Given the description of an element on the screen output the (x, y) to click on. 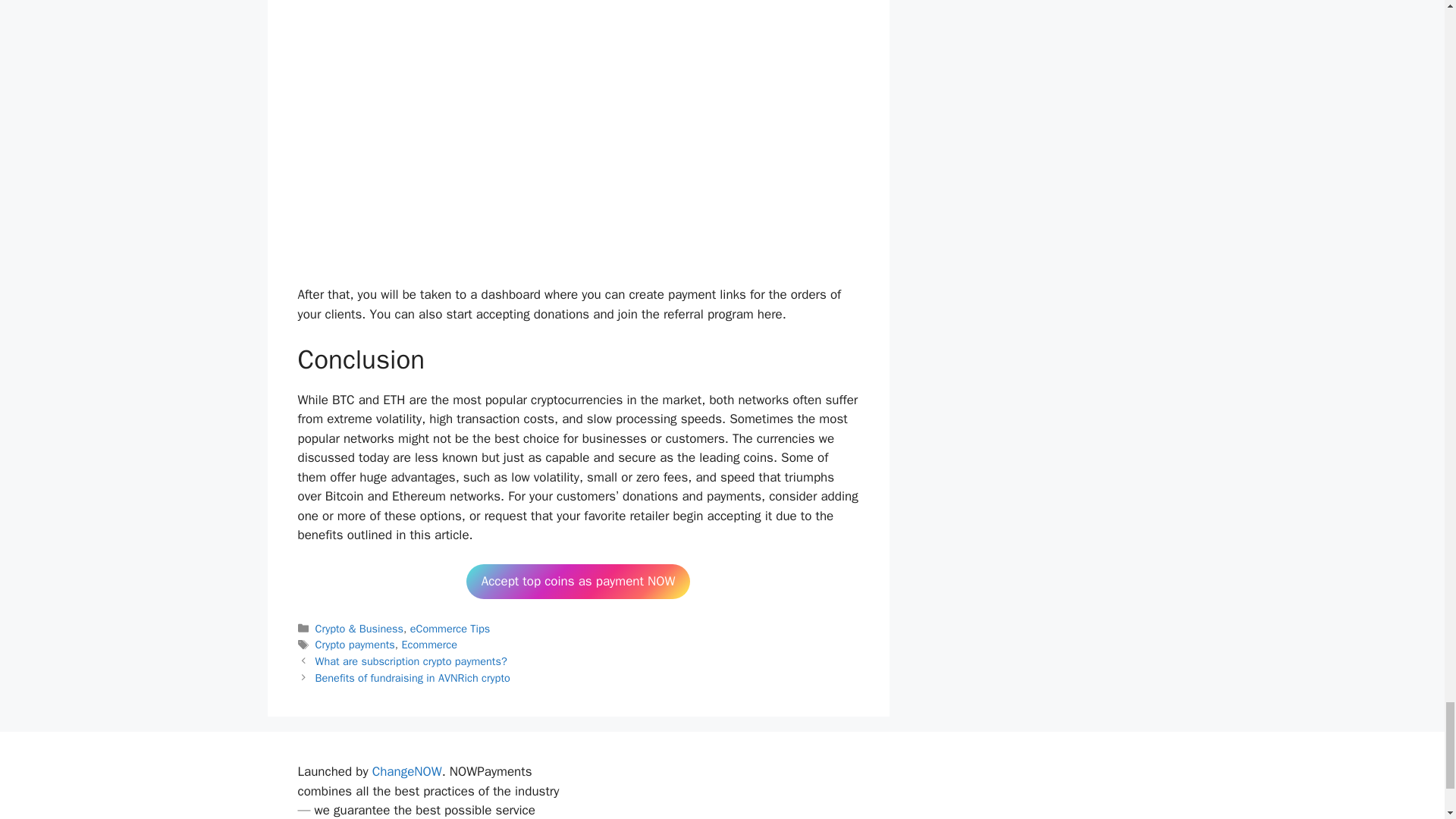
Ecommerce (429, 644)
What are subscription crypto payments? (410, 661)
eCommerce Tips (450, 628)
Crypto payments (354, 644)
Accept top coins as payment NOW (577, 581)
